Given the description of an element on the screen output the (x, y) to click on. 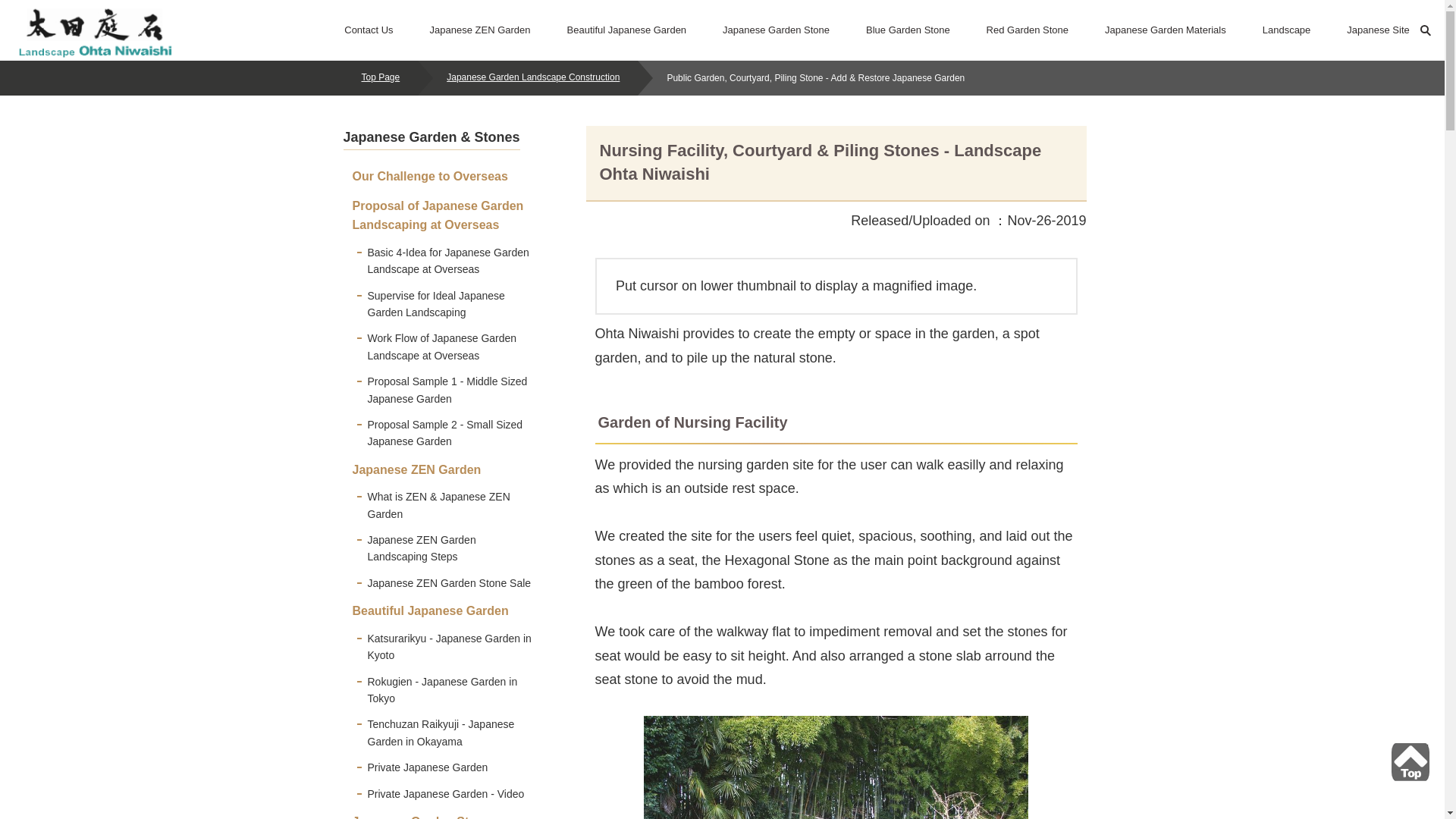
Japanese Garden Materials (1165, 30)
Basic 4-Idea for Japanese Garden Landscape at Overseas (441, 260)
Contact Us (368, 30)
Our Challenge to Overseas (427, 176)
Red Garden Stone (1027, 30)
Japanese ZEN Garden (413, 469)
Supervise for Ideal Japanese Garden Landscaping (441, 303)
search (1087, 82)
Proposal Sample 1 - Middle Sized Japanese Garden (441, 389)
Japanese ZEN Garden (480, 30)
Work Flow of Japanese Garden Landscape at Overseas (441, 346)
Japanese Garden Stone (775, 30)
Top Page (379, 77)
Proposal Sample 2 - Small Sized Japanese Garden (441, 433)
Landscape (1286, 30)
